Given the description of an element on the screen output the (x, y) to click on. 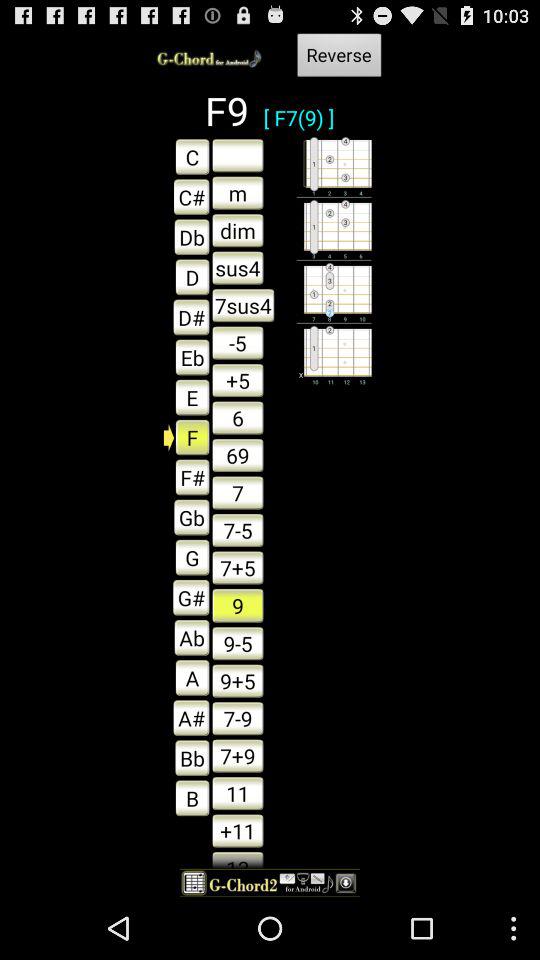
select item below the 13 (270, 882)
